Given the description of an element on the screen output the (x, y) to click on. 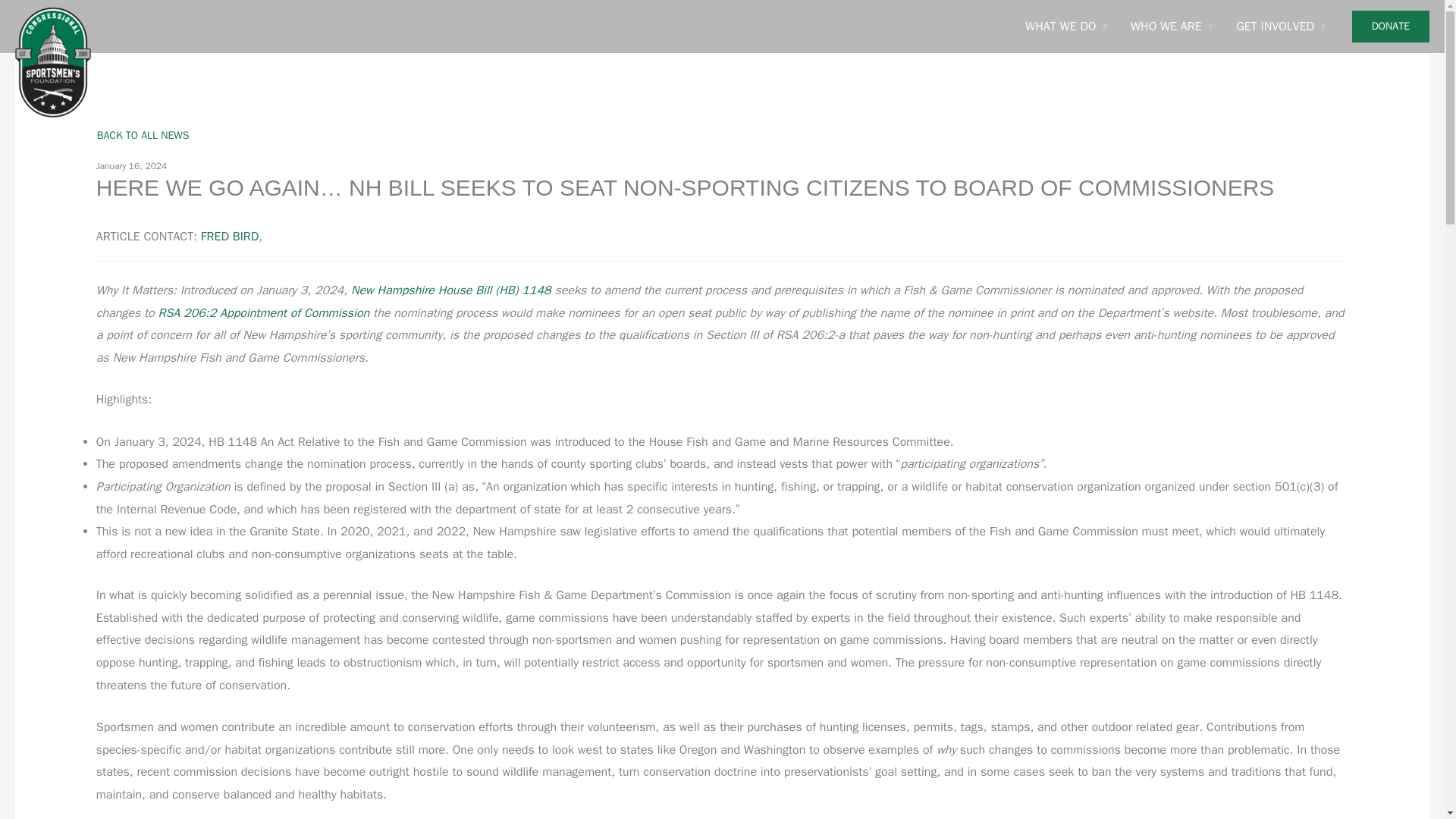
FRED BIRD (229, 236)
RSA 206:2 Appointment of Commission (263, 313)
GET INVOLVED (1280, 26)
BACK TO ALL NEWS (143, 134)
WHAT WE DO (1065, 26)
DONATE (1390, 26)
WHO WE ARE (1171, 26)
